Given the description of an element on the screen output the (x, y) to click on. 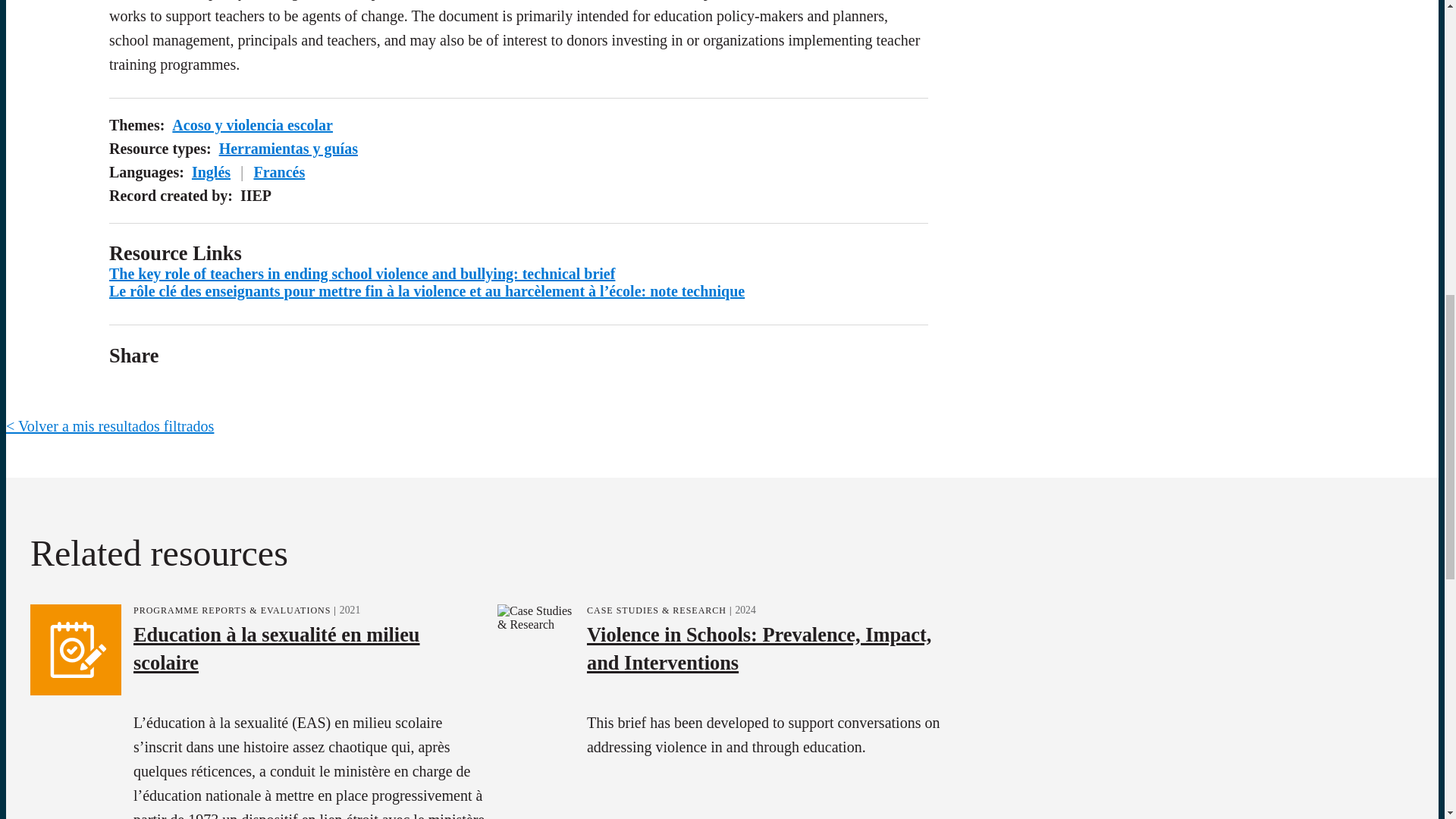
Violence in Schools: Prevalence, Impact, and Interventions (758, 646)
Acoso y violencia escolar (252, 125)
